Given the description of an element on the screen output the (x, y) to click on. 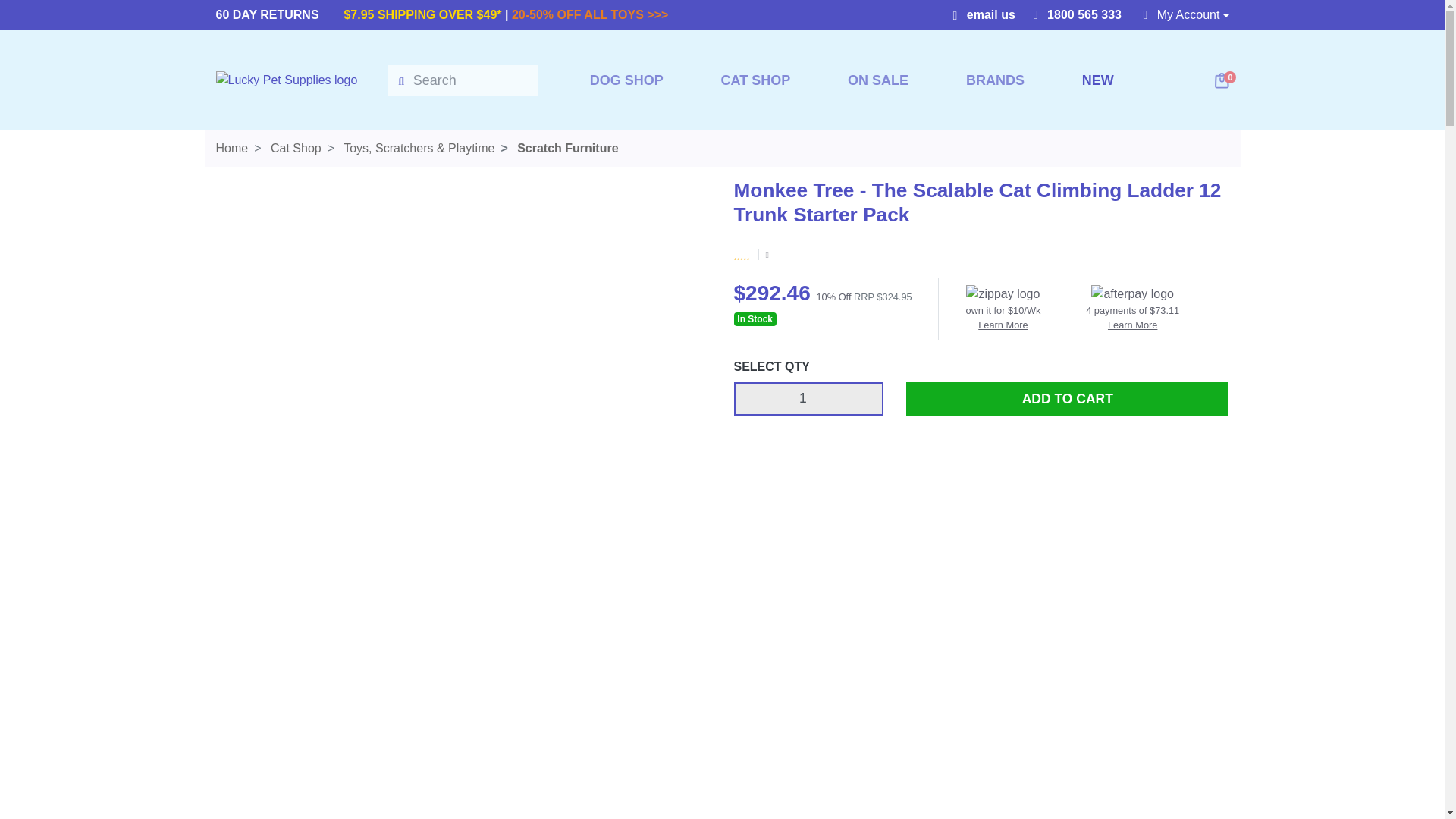
1 (808, 398)
My Account (1185, 15)
DOG SHOP (626, 79)
BRANDS (994, 79)
1800 565 333 (1077, 14)
ON SALE (877, 79)
Search (463, 80)
0 (1222, 80)
NEW (1097, 102)
Lucky Pet Supplies (285, 79)
CAT SHOP (756, 79)
email us (983, 14)
